Given the description of an element on the screen output the (x, y) to click on. 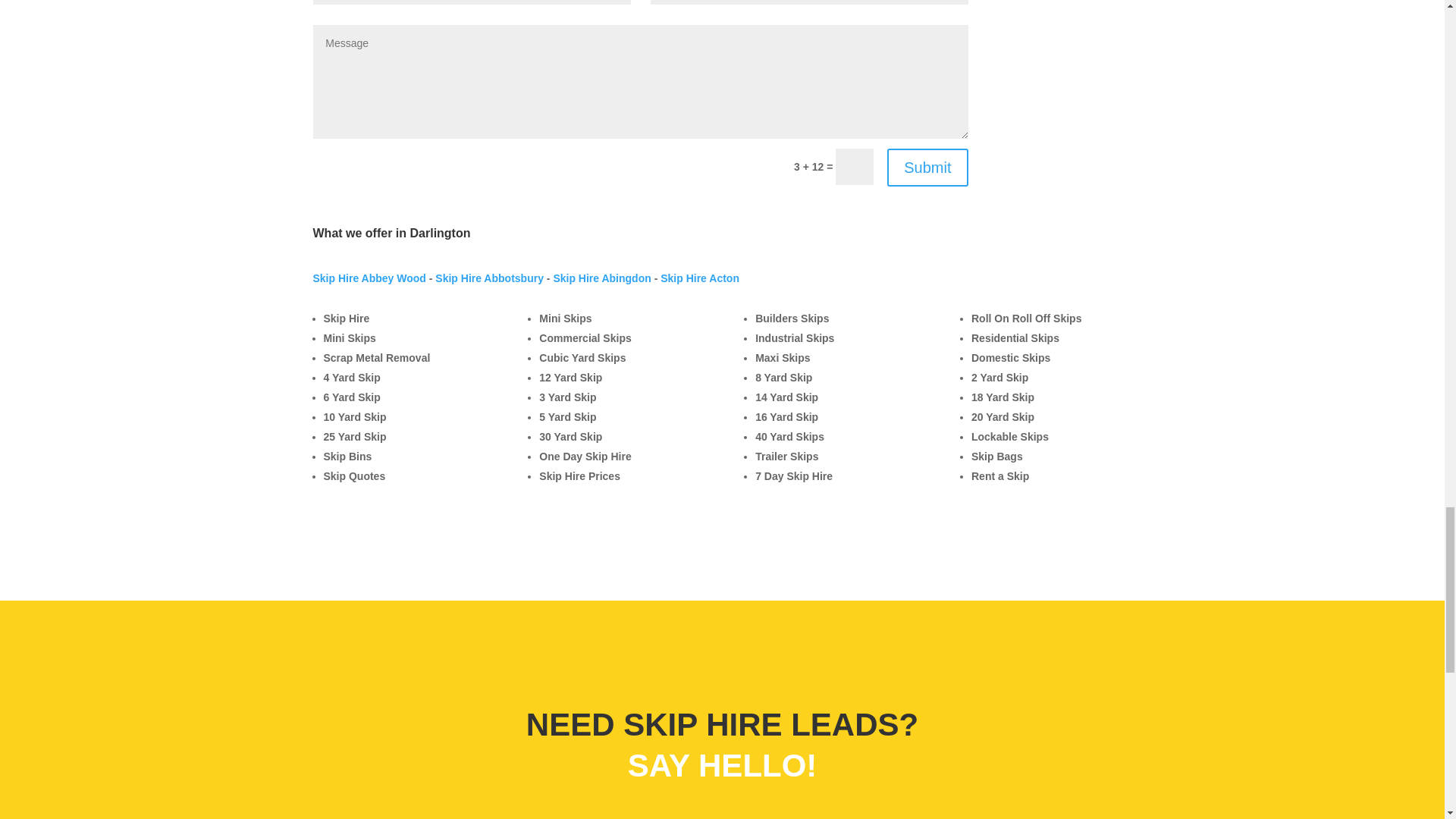
Skip Hire Acton (700, 277)
Skip Hire Abbey Wood (369, 277)
Skip Hire Abbotsbury (489, 277)
Skip Hire Abingdon (601, 277)
Skip Hire Abbey Wood (369, 277)
Submit (927, 167)
Skip Hire Abingdon (601, 277)
Skip Hire Abbotsbury (489, 277)
Skip Hire Acton (700, 277)
